Given the description of an element on the screen output the (x, y) to click on. 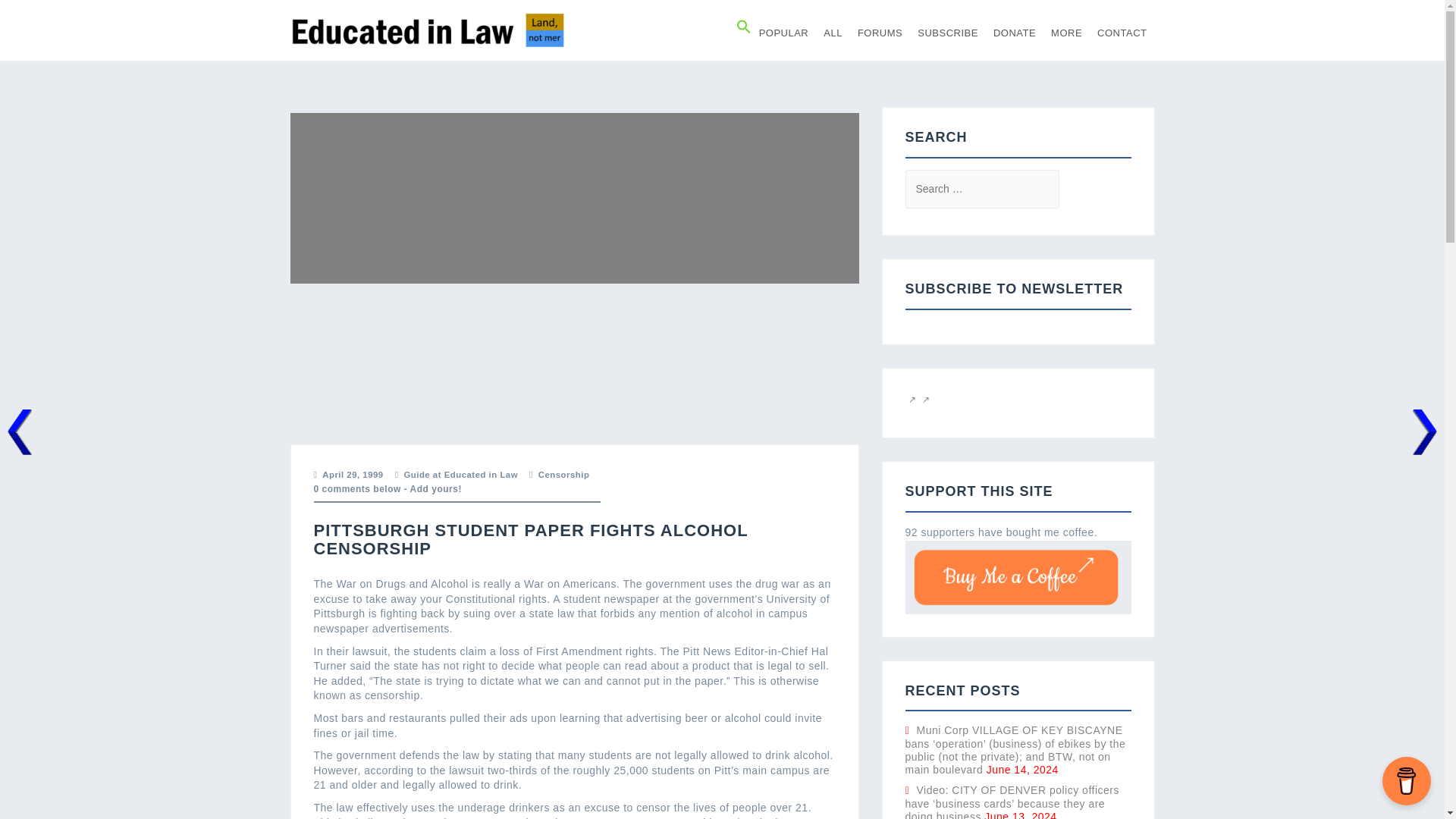
DONATE (1013, 33)
Educated in Law (427, 29)
CONTACT (1122, 33)
Advertisement (569, 361)
MORE (1066, 33)
SUBSCRIBE (947, 33)
POPULAR (783, 33)
FORUMS (879, 33)
ALL (833, 33)
